Given the description of an element on the screen output the (x, y) to click on. 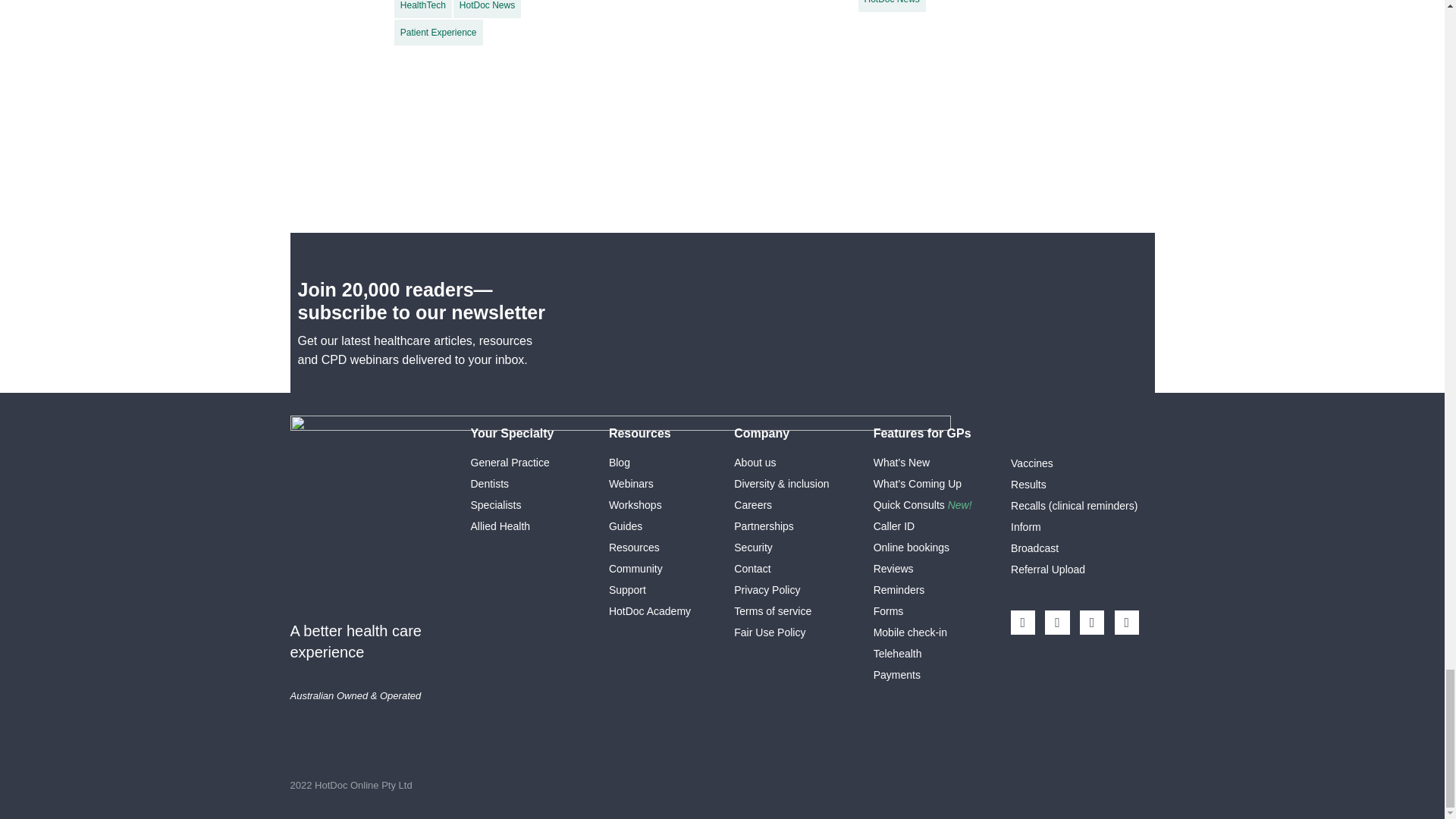
Dentists (489, 483)
General Practice (509, 462)
HotDoc News (892, 6)
Specialists (495, 504)
HealthTech (422, 9)
Patient Experience (438, 32)
HotDoc News (486, 9)
